Given the description of an element on the screen output the (x, y) to click on. 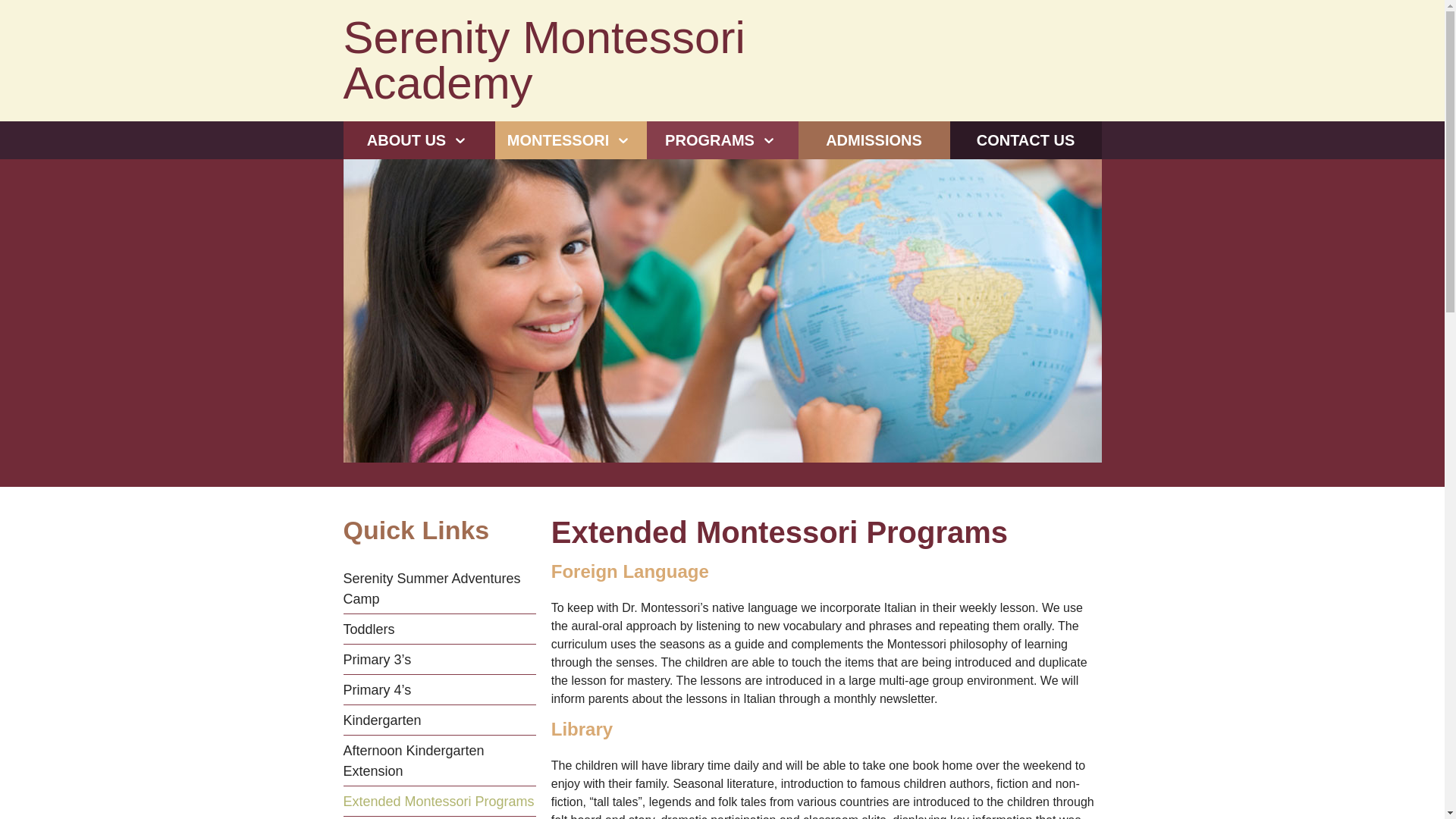
Serenity Summer Adventures Camp (438, 591)
Afternoon Kindergarten Extension (438, 763)
Extended Montessori Programs (438, 803)
ADMISSIONS (873, 139)
Kindergarten (438, 722)
ABOUT US (418, 139)
PROGRAMS (721, 139)
MONTESSORI (570, 139)
CONTACT US (1024, 139)
Serenity Montessori Academy (625, 60)
